Given the description of an element on the screen output the (x, y) to click on. 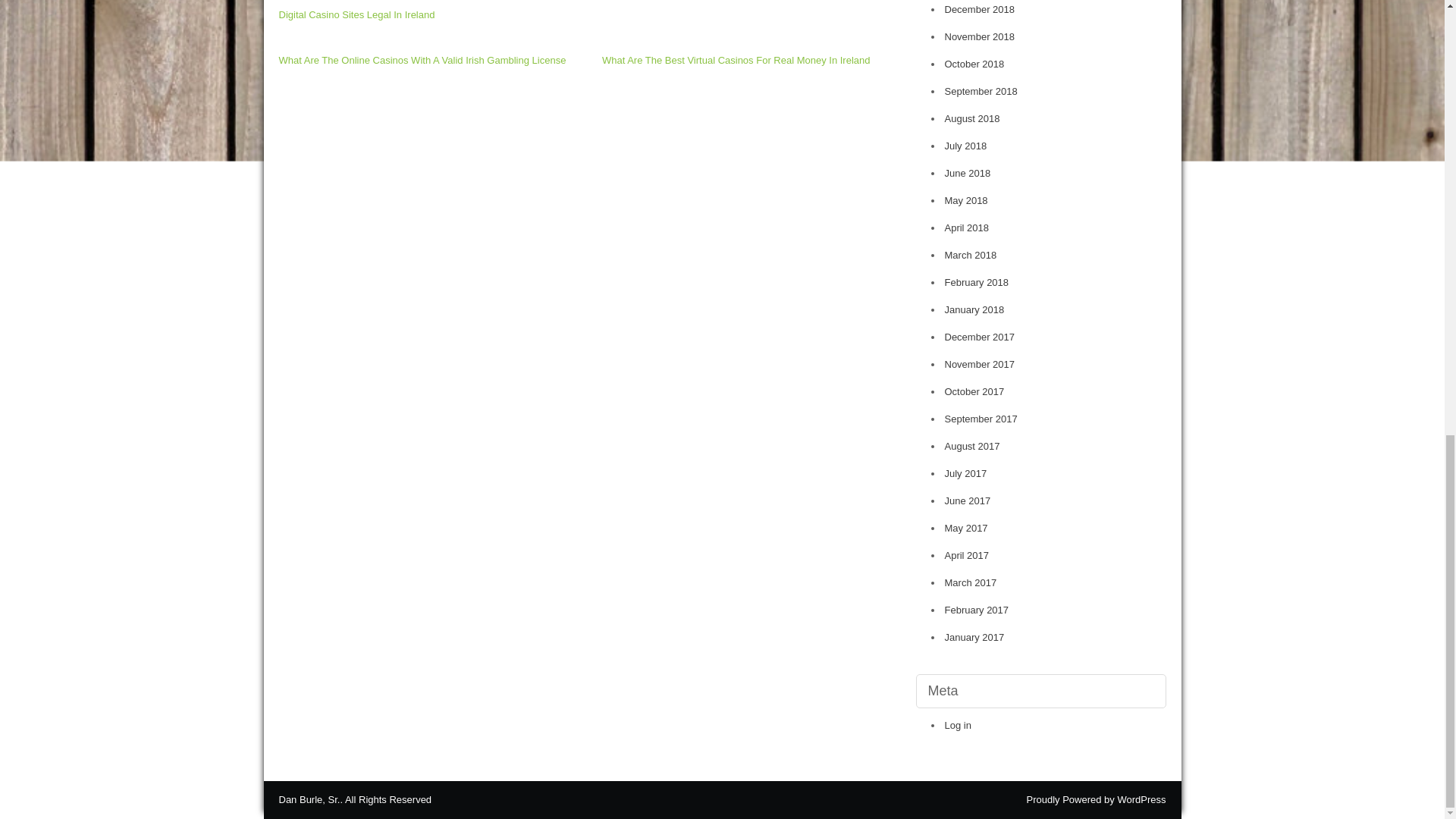
What Are The Best Virtual Casinos For Real Money In Ireland (736, 60)
Digital Casino Sites Legal In Ireland (357, 14)
